Given the description of an element on the screen output the (x, y) to click on. 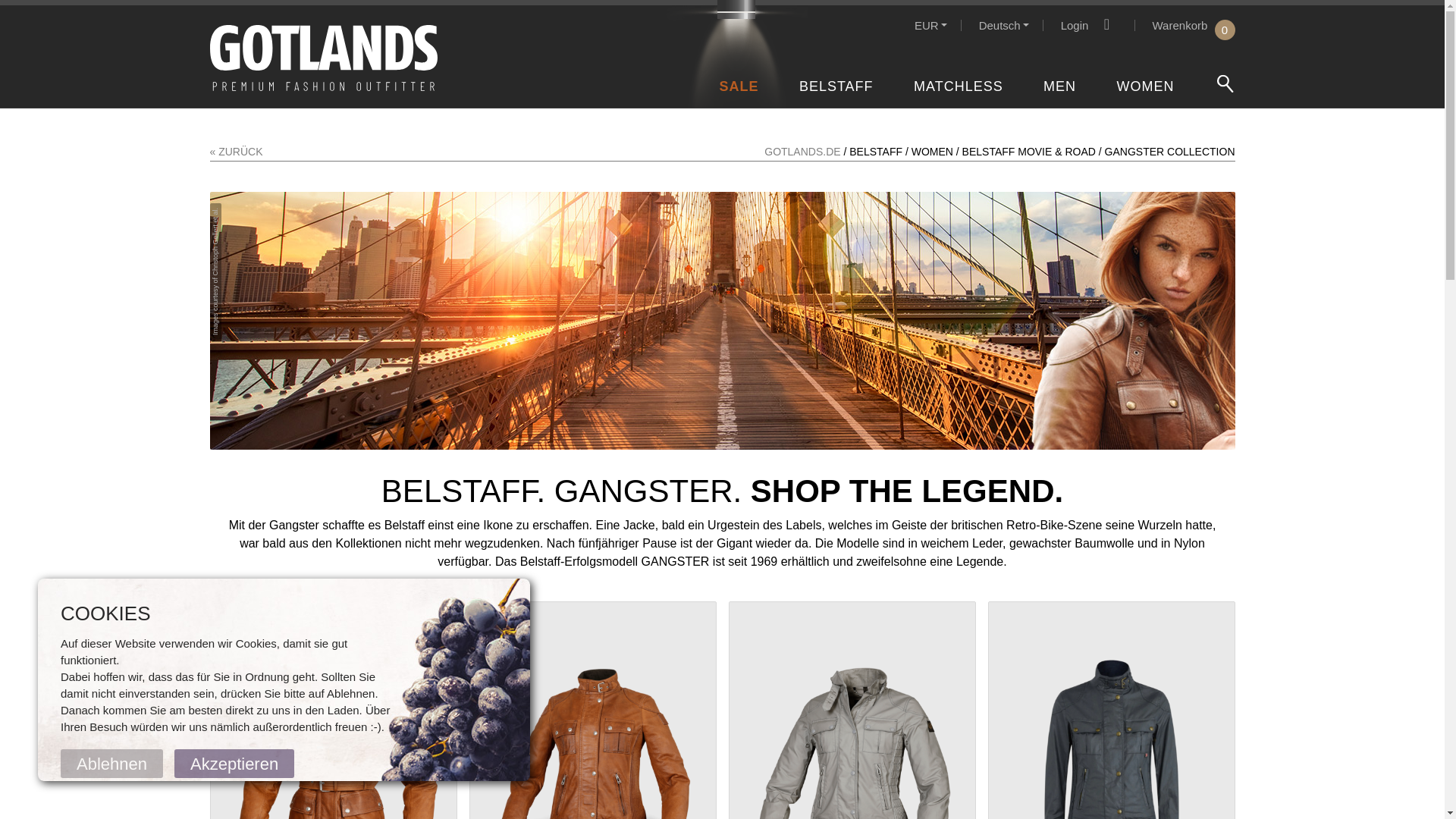
MEN (1193, 24)
Deutsch (1059, 86)
BELSTAFF (1003, 24)
MATCHLESS (836, 86)
Login (957, 86)
SALE (1091, 24)
EUR (738, 86)
WOMEN (930, 24)
GOTLANDS.DE (1144, 86)
